Given the description of an element on the screen output the (x, y) to click on. 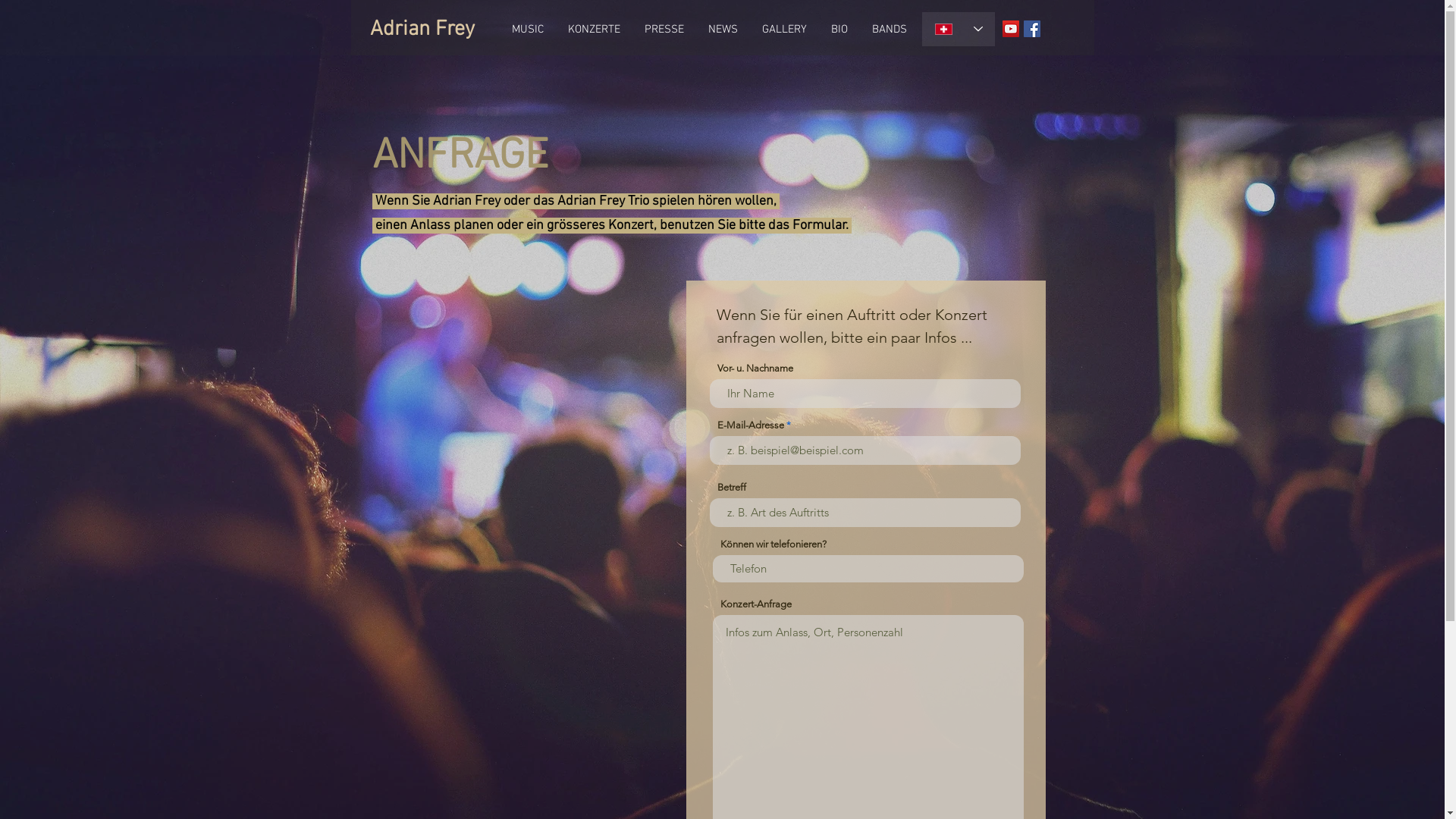
BANDS Element type: text (889, 29)
Adrian Frey Element type: text (422, 29)
BIO Element type: text (839, 29)
MUSIC Element type: text (526, 29)
PRESSE Element type: text (664, 29)
GALLERY Element type: text (783, 29)
NEWS Element type: text (722, 29)
KONZERTE Element type: text (593, 29)
